Given the description of an element on the screen output the (x, y) to click on. 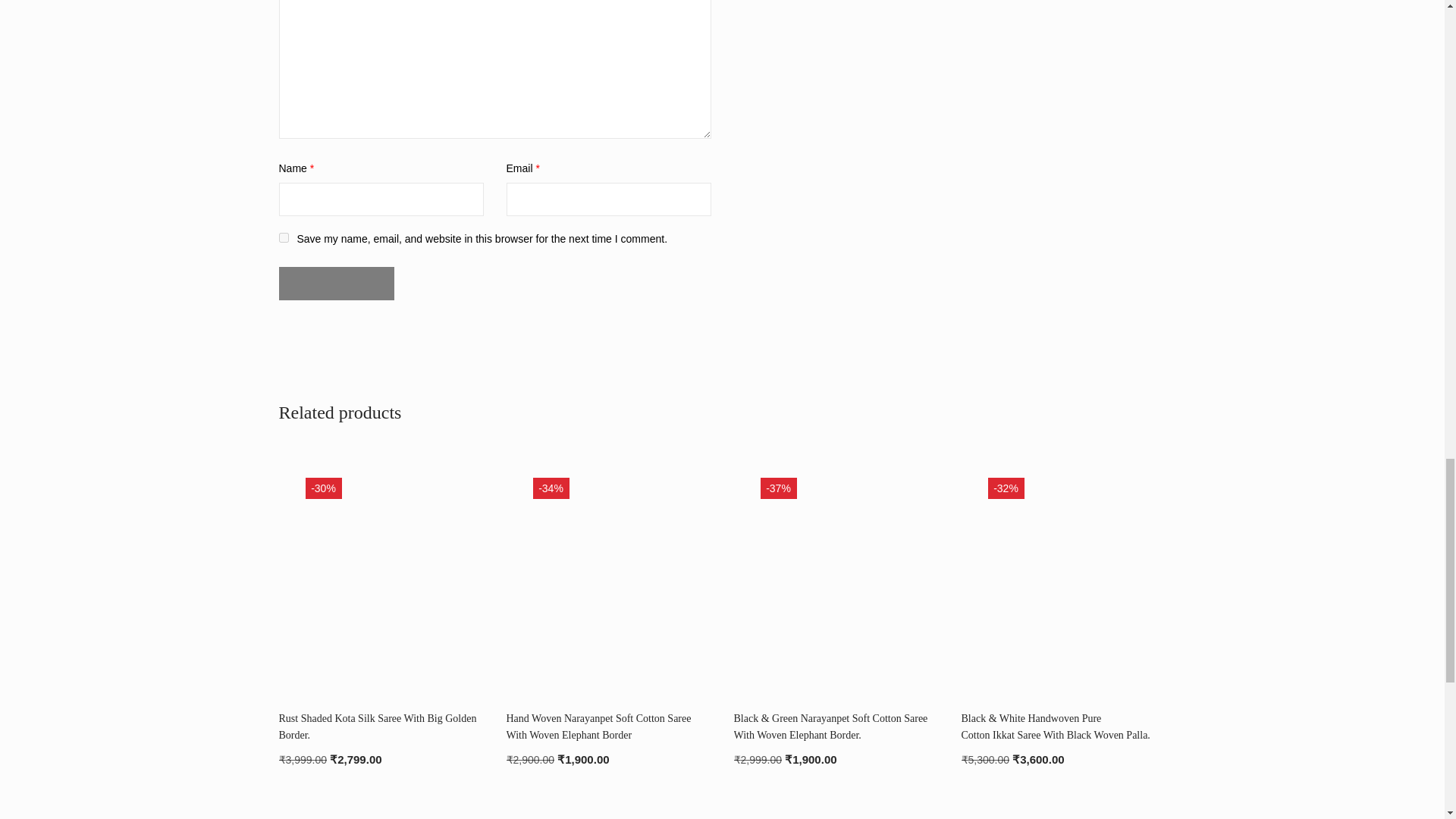
Submit (336, 283)
yes (283, 237)
